Given the description of an element on the screen output the (x, y) to click on. 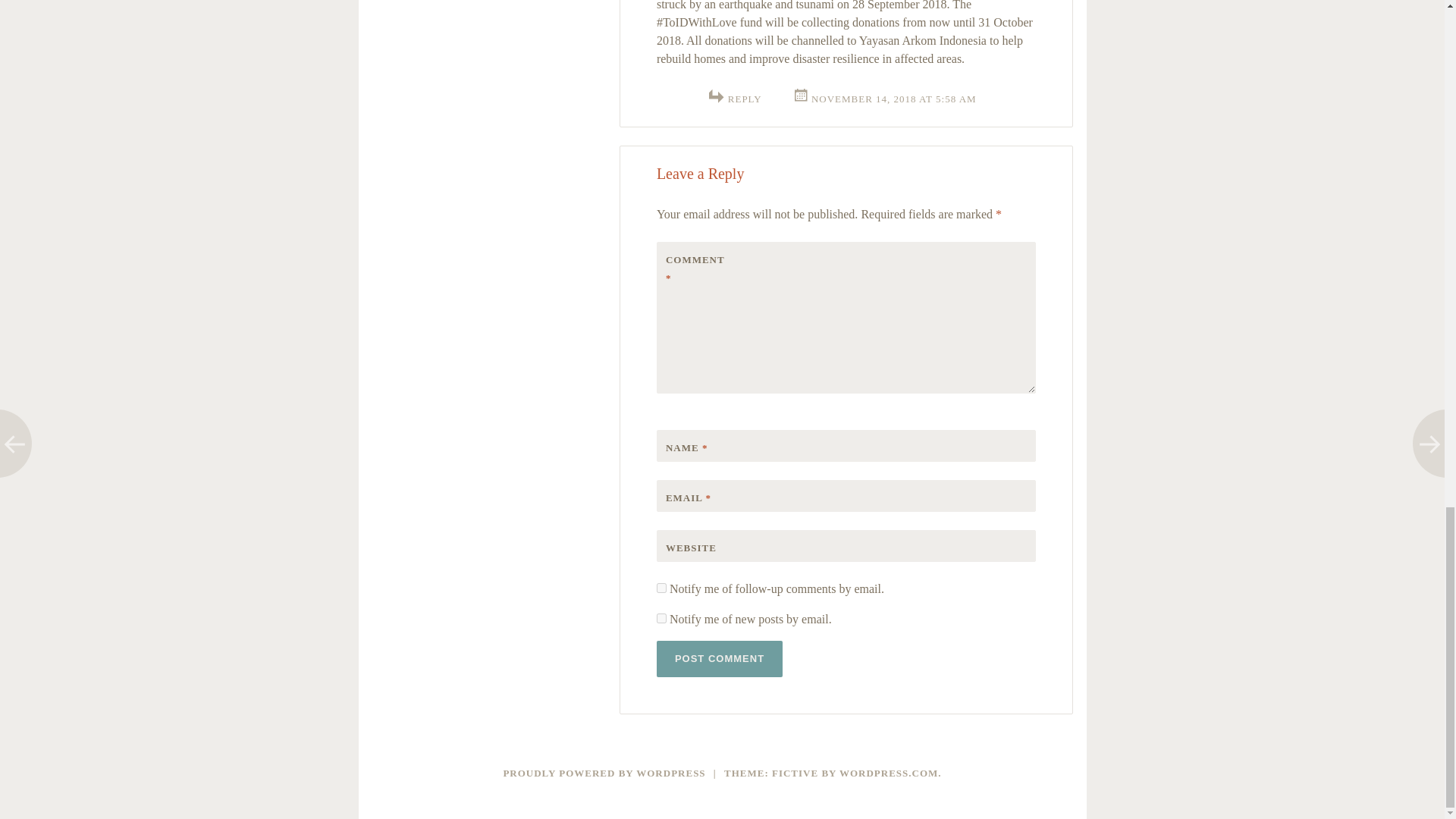
REPLY (744, 98)
subscribe (661, 618)
PROUDLY POWERED BY WORDPRESS (603, 772)
Post Comment (719, 658)
Post Comment (719, 658)
subscribe (661, 587)
WORDPRESS.COM (888, 772)
NOVEMBER 14, 2018 AT 5:58 AM (884, 98)
